Given the description of an element on the screen output the (x, y) to click on. 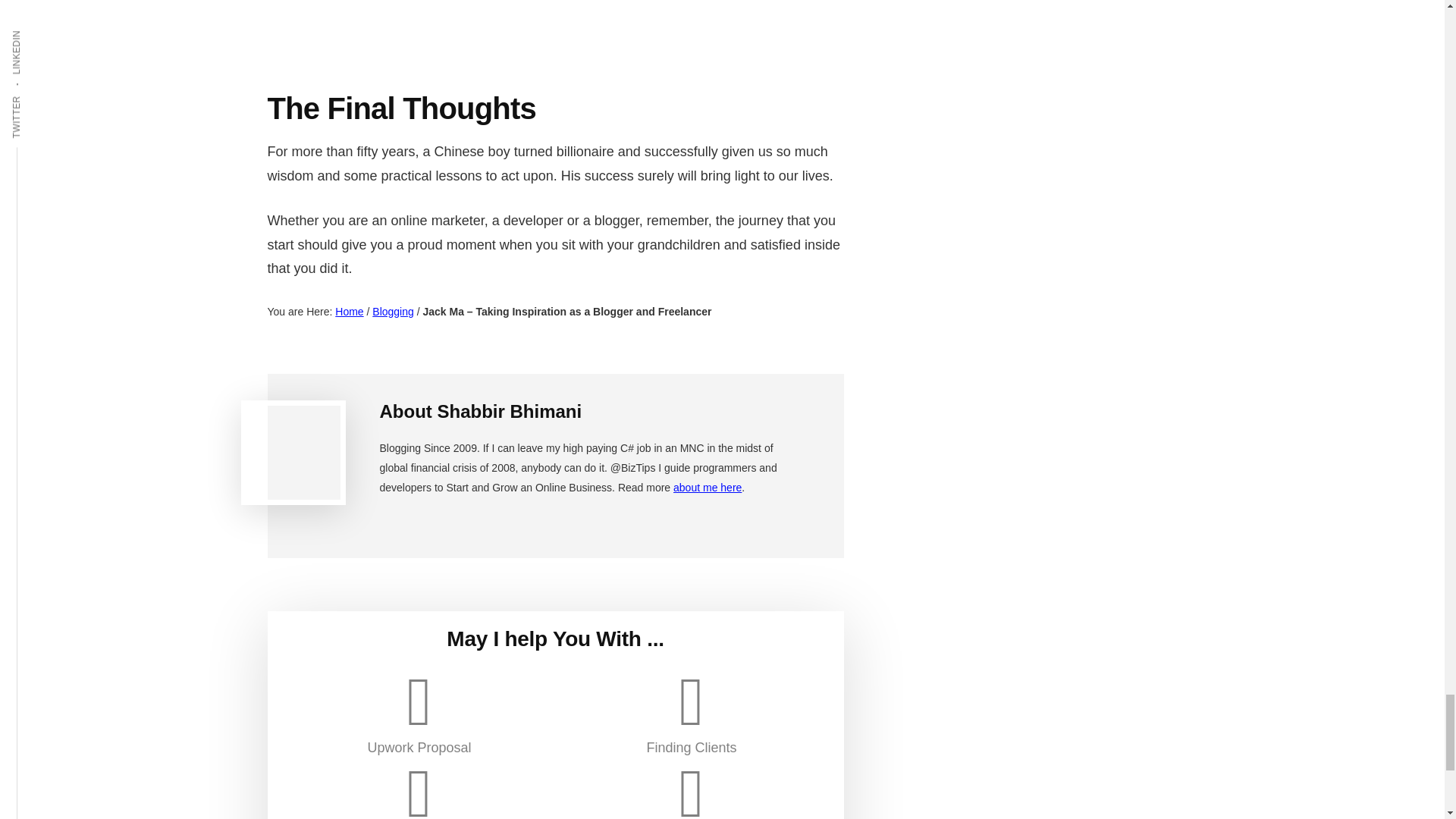
about me here (706, 487)
Blogging (392, 311)
Finding Clients (691, 711)
Home (348, 311)
Start a Blog (691, 789)
Start a Store (418, 789)
Upwork Proposal (418, 711)
